Given the description of an element on the screen output the (x, y) to click on. 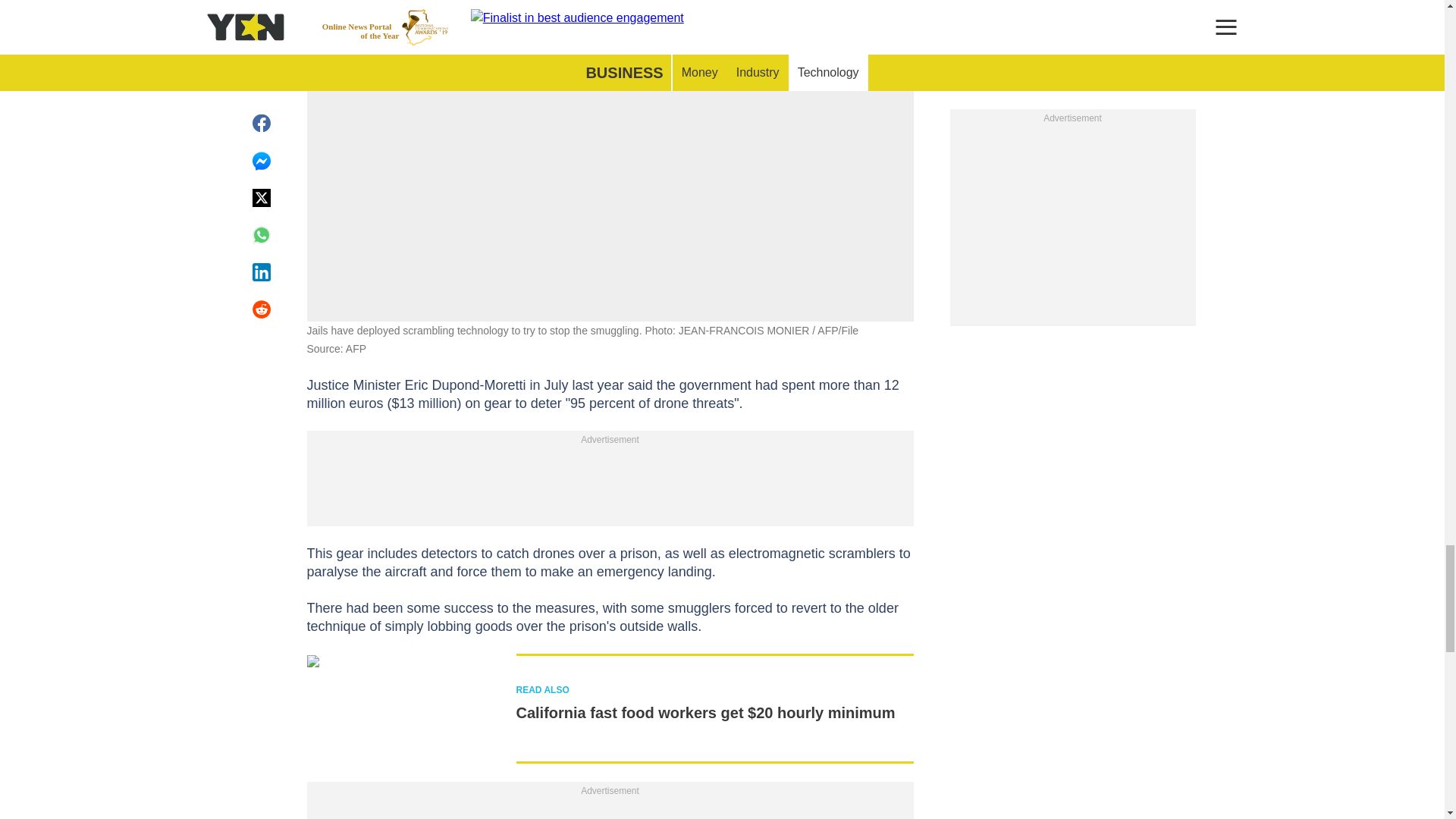
Expand image (895, 6)
